Given the description of an element on the screen output the (x, y) to click on. 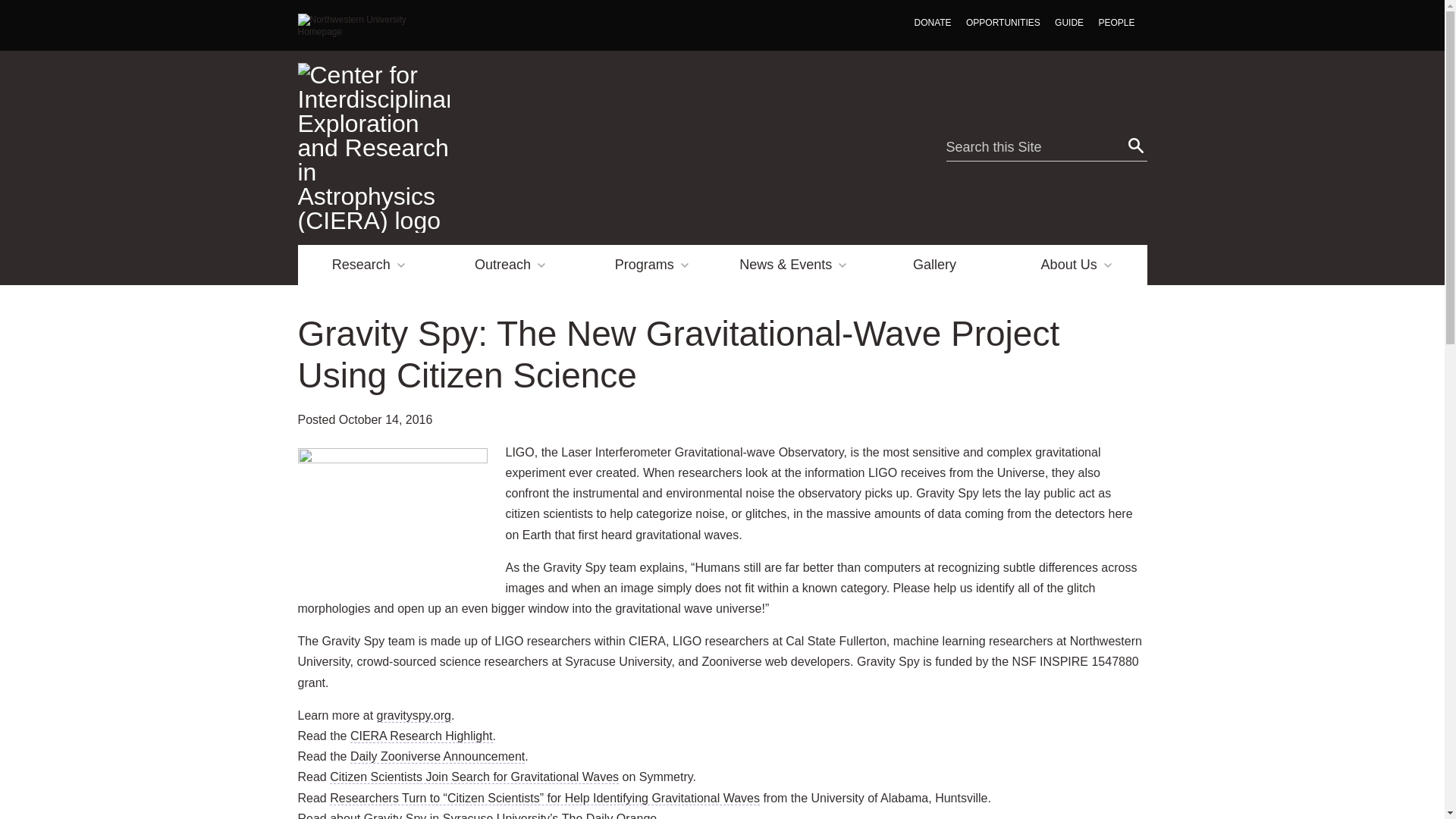
GUIDE (1068, 22)
OPPORTUNITIES (1003, 22)
PEOPLE (1115, 22)
DONATE (933, 22)
